Given the description of an element on the screen output the (x, y) to click on. 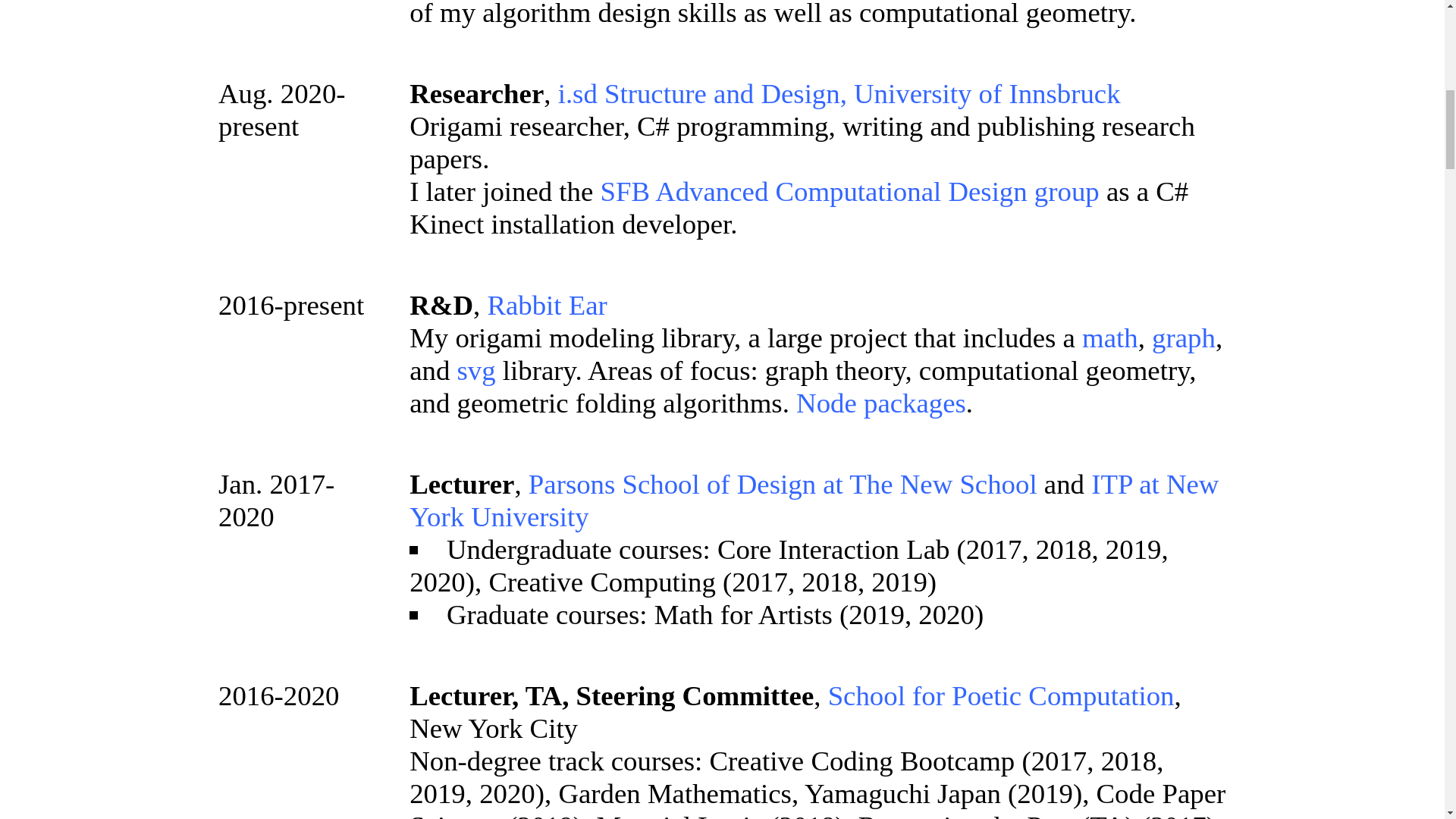
Rabbit Ear (546, 305)
Node packages (881, 402)
svg (476, 369)
